Given the description of an element on the screen output the (x, y) to click on. 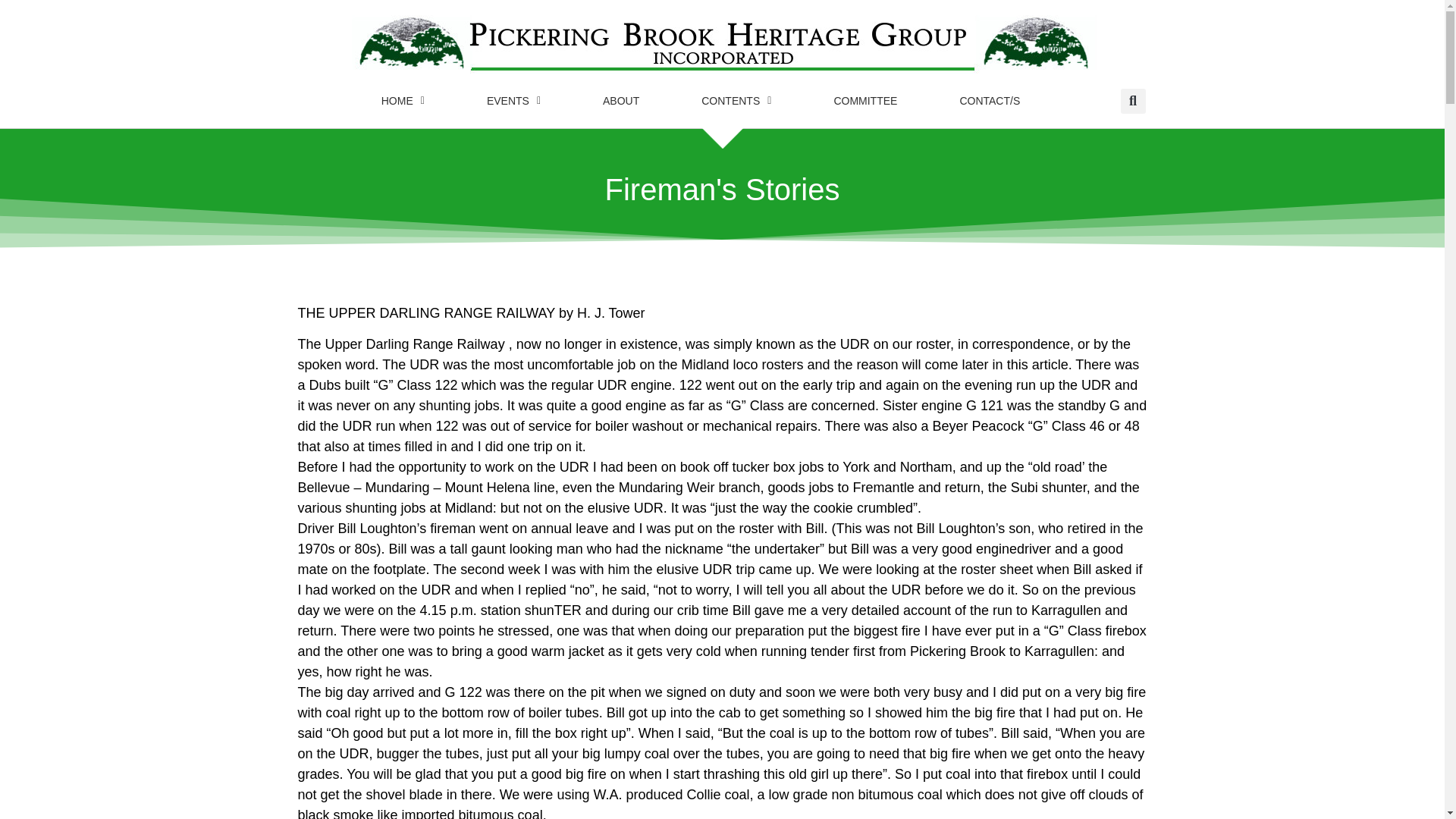
ABOUT (620, 100)
COMMITTEE (865, 100)
CONTENTS (735, 100)
HOME (402, 100)
EVENTS (513, 100)
